Given the description of an element on the screen output the (x, y) to click on. 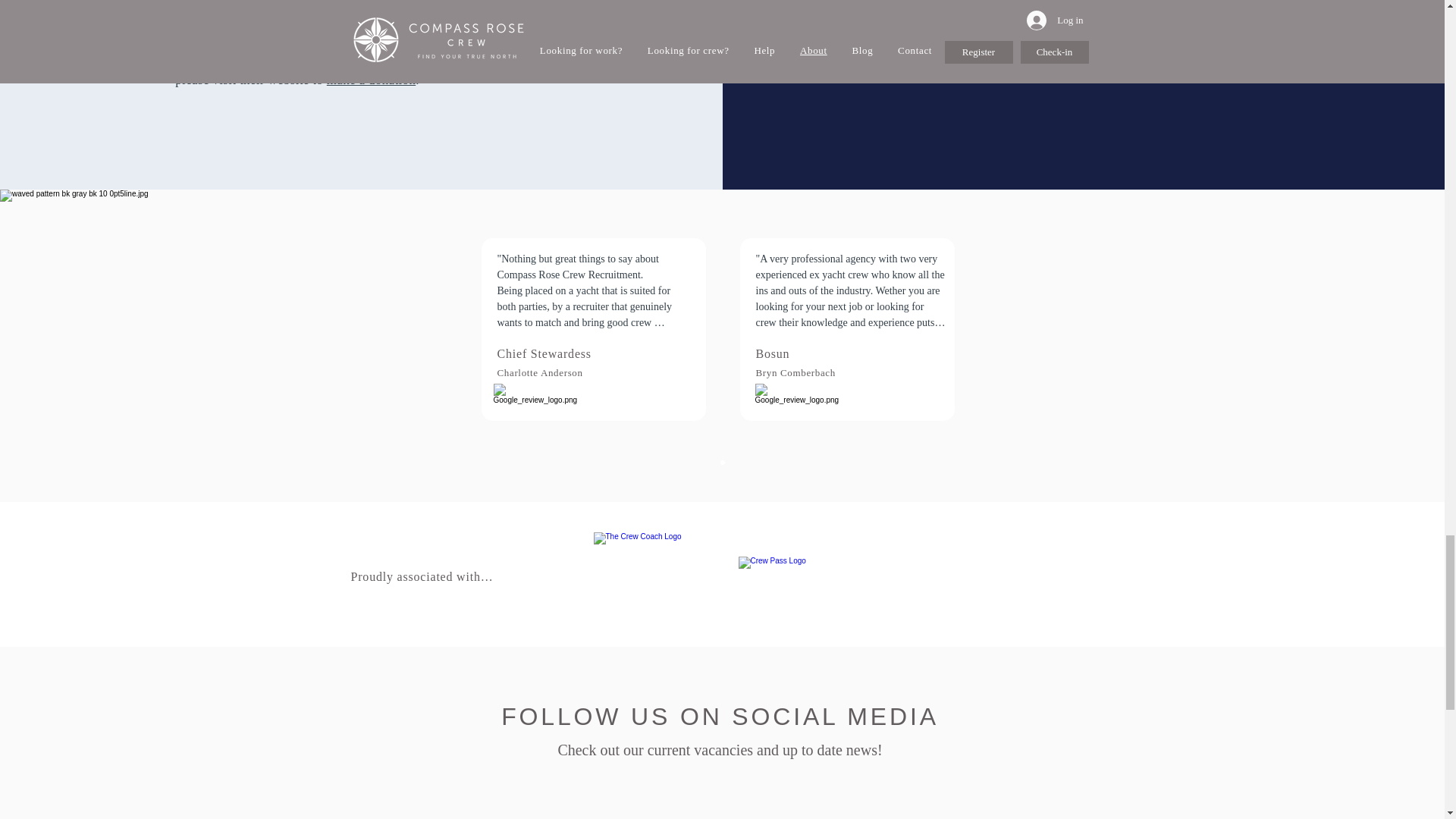
make a donation (370, 79)
please visit their website to (250, 79)
Donate Today (1092, 62)
Reef Restoration Foundation logo (1092, 13)
